Given the description of an element on the screen output the (x, y) to click on. 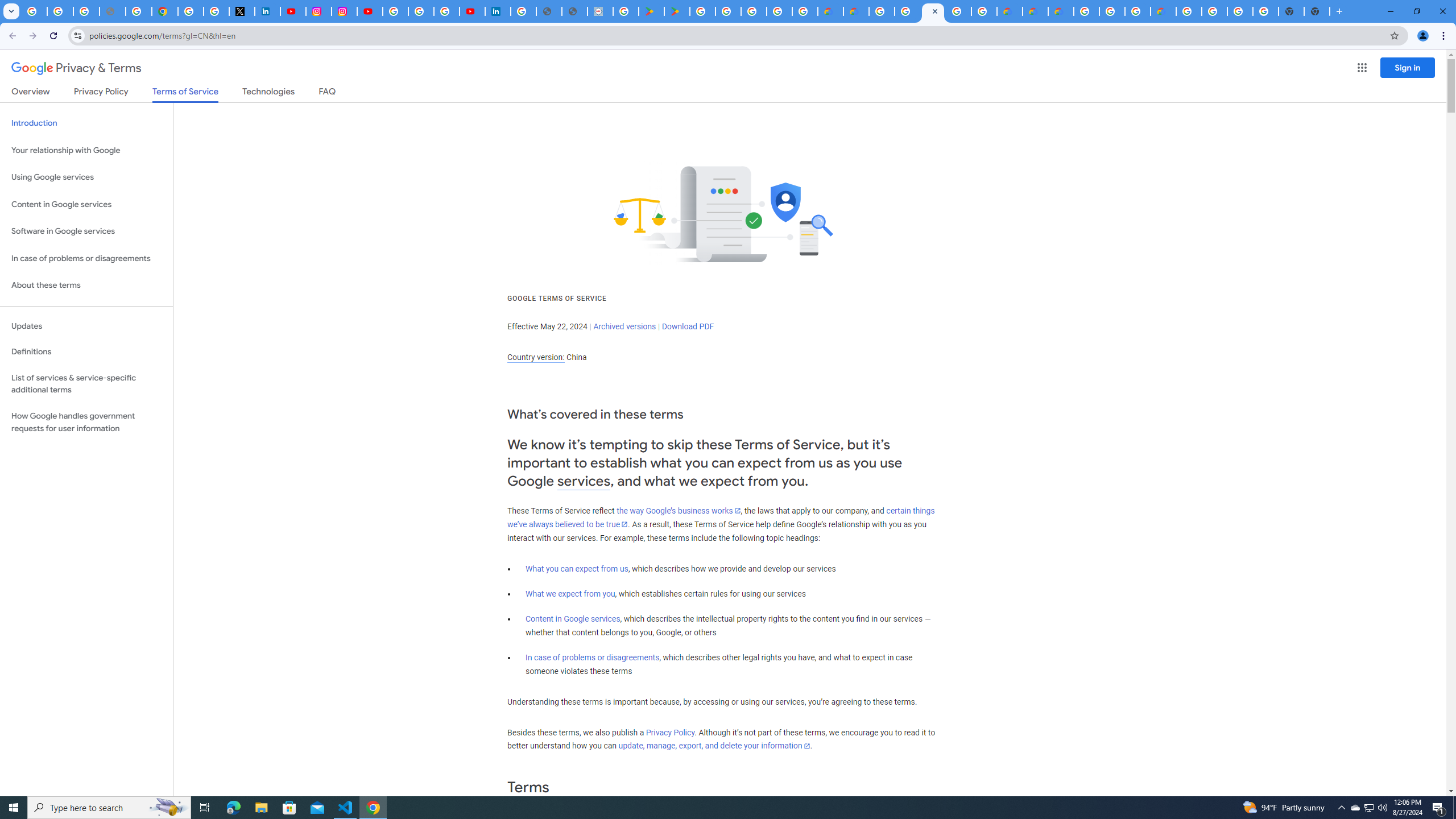
Your relationship with Google (86, 150)
Google Cloud Platform (958, 11)
New Tab (1316, 11)
How Google handles government requests for user information (86, 422)
LinkedIn Privacy Policy (266, 11)
Android Apps on Google Play (651, 11)
Privacy Help Center - Policies Help (138, 11)
